Given the description of an element on the screen output the (x, y) to click on. 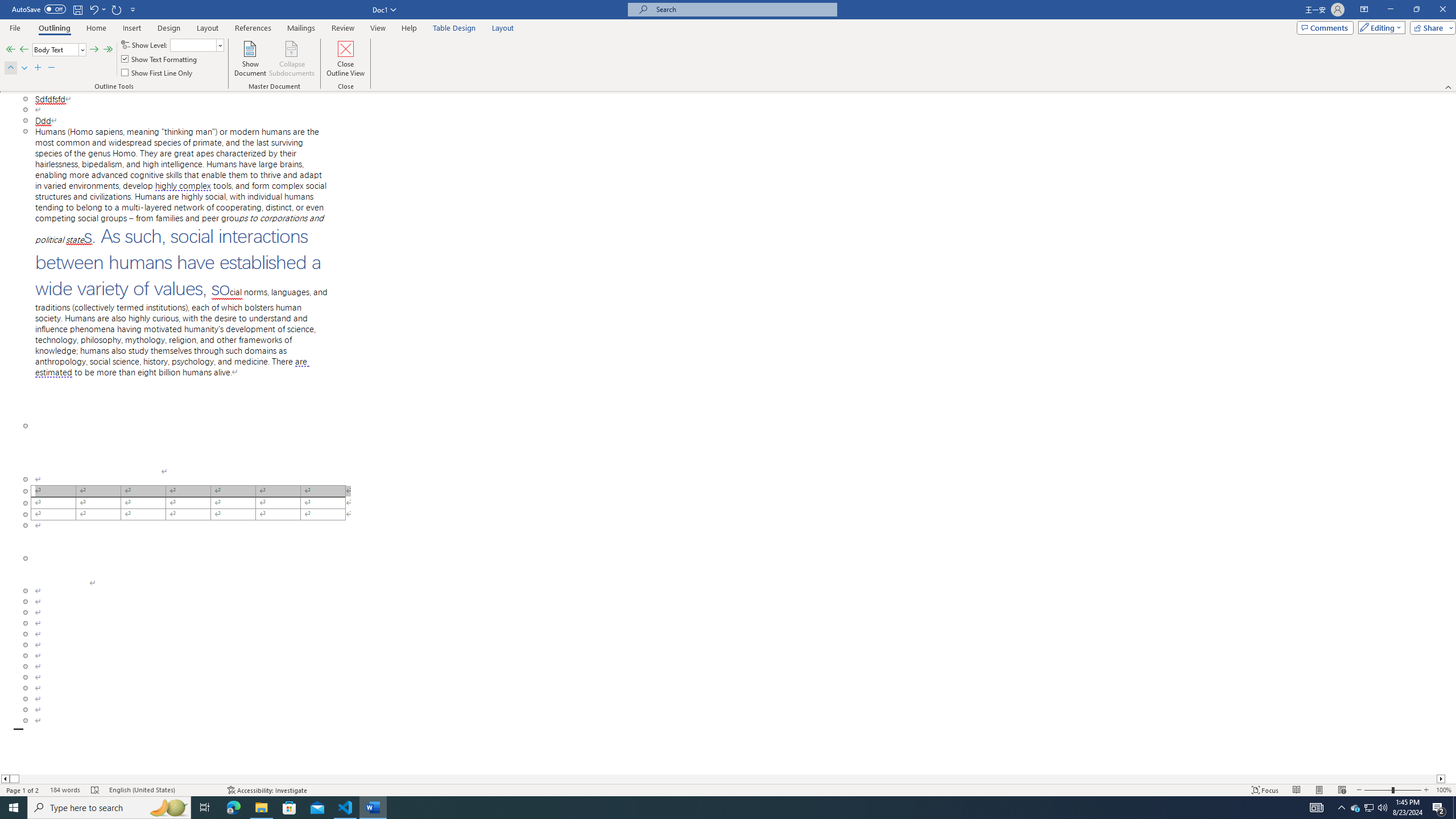
Mailings (301, 28)
Show Text Formatting (159, 58)
Expand (37, 67)
Close Outline View (345, 58)
Class: NetUIScrollBar (722, 778)
Editing (1379, 27)
Page Number Page 1 of 2 (22, 790)
Spelling and Grammar Check Errors (94, 790)
Column right (1441, 778)
Microsoft search (742, 9)
More Options (103, 9)
Class: MsoCommandBar (728, 45)
Promote to Heading 1 (10, 49)
Outlining (54, 28)
